Given the description of an element on the screen output the (x, y) to click on. 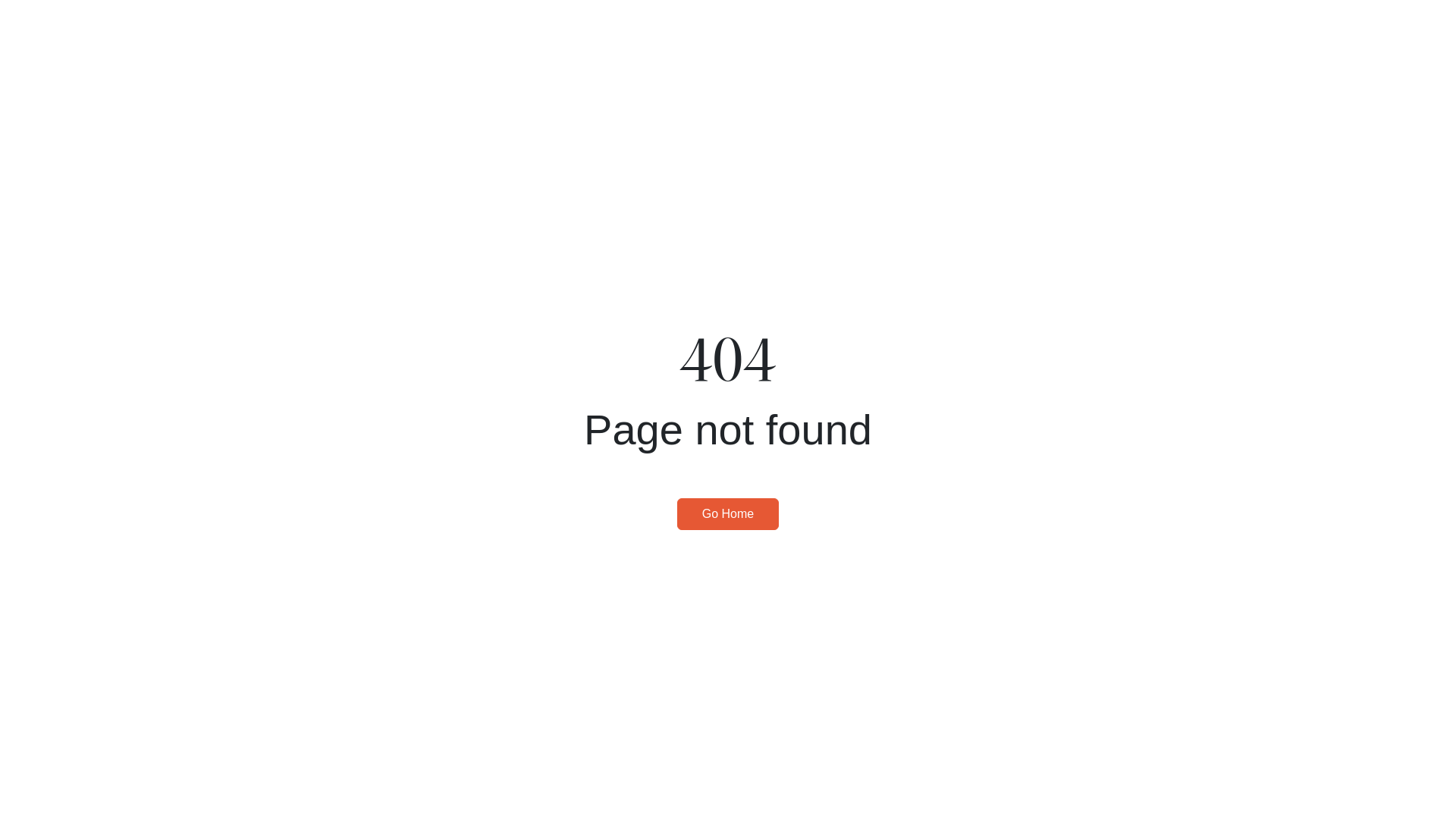
Go Home Element type: text (727, 514)
